Given the description of an element on the screen output the (x, y) to click on. 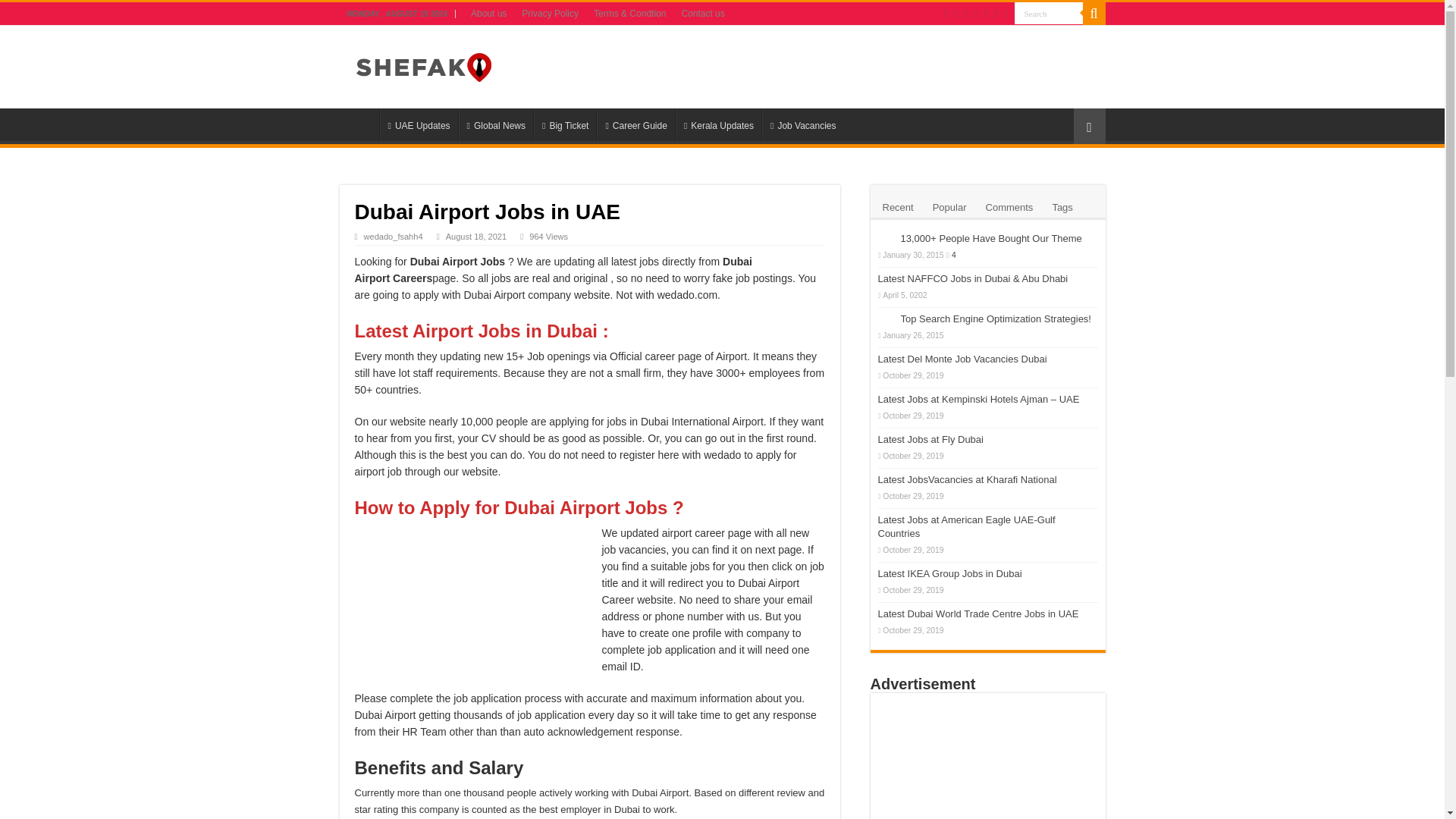
Home (358, 124)
About us (488, 13)
Big Ticket (564, 124)
Search (1048, 13)
Global News (495, 124)
UAE Updates (417, 124)
Kerala Updates (718, 124)
Search (1048, 13)
Career Guide (635, 124)
Search (1094, 13)
